Given the description of an element on the screen output the (x, y) to click on. 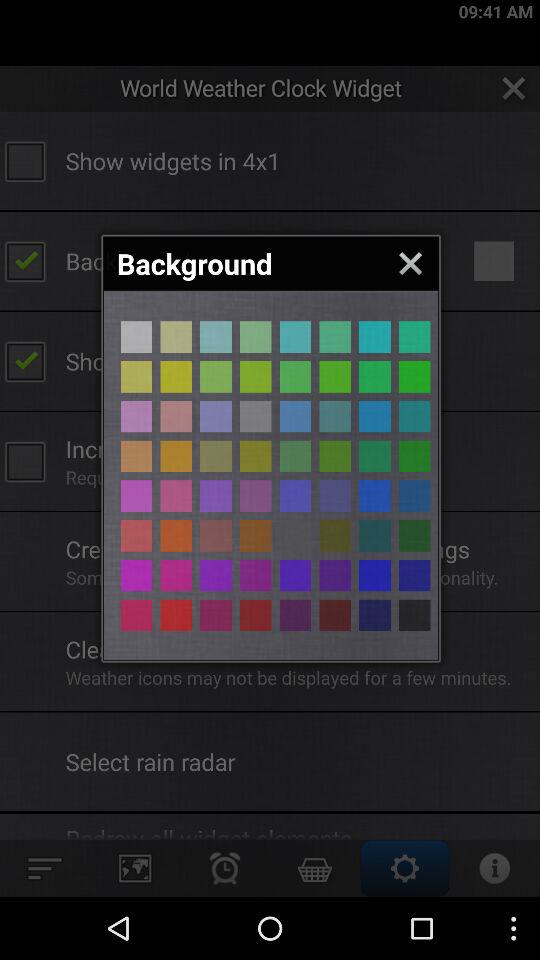
select colour (335, 376)
